Given the description of an element on the screen output the (x, y) to click on. 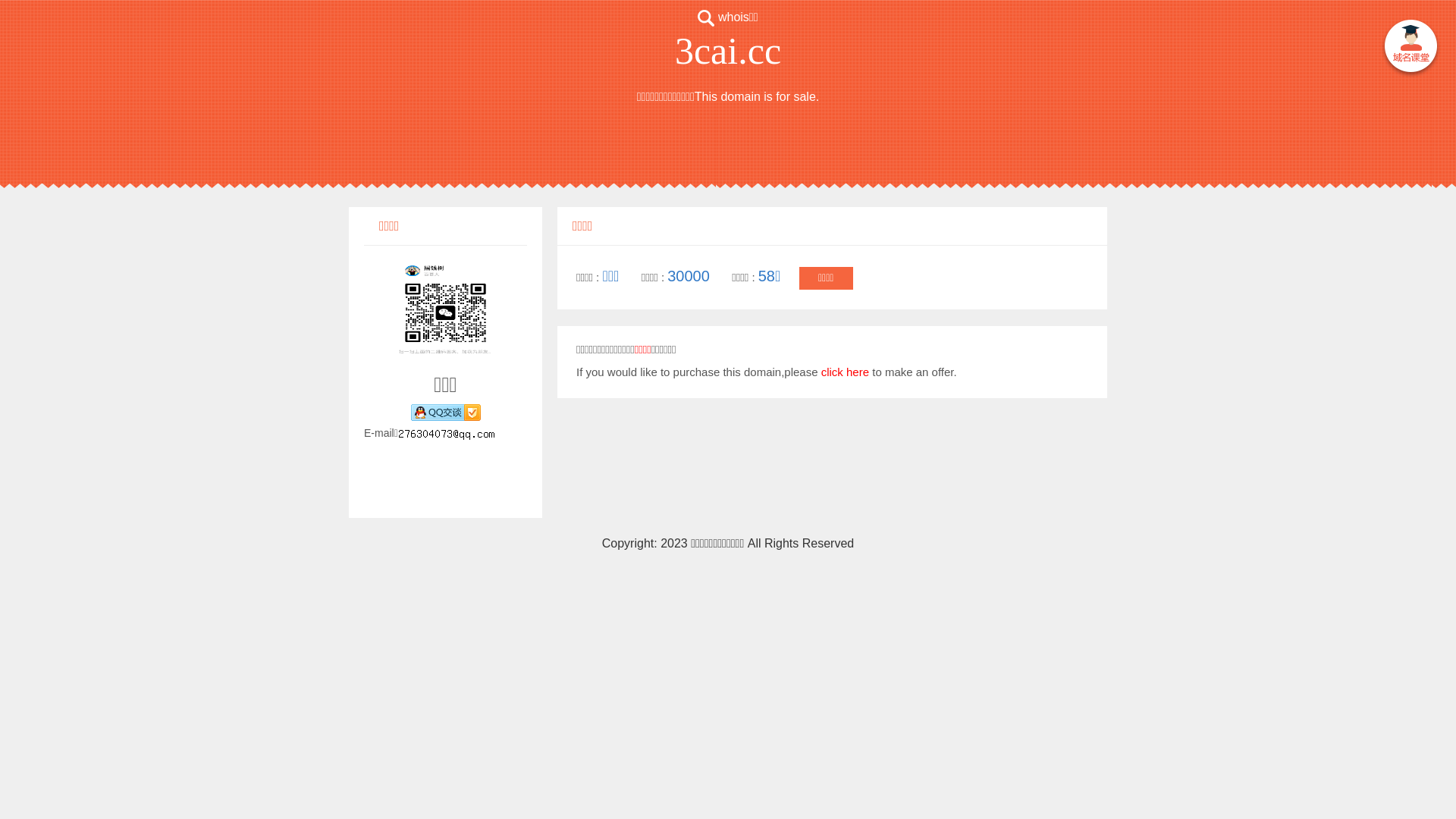
click here Element type: text (845, 371)
  Element type: text (1410, 48)
